Given the description of an element on the screen output the (x, y) to click on. 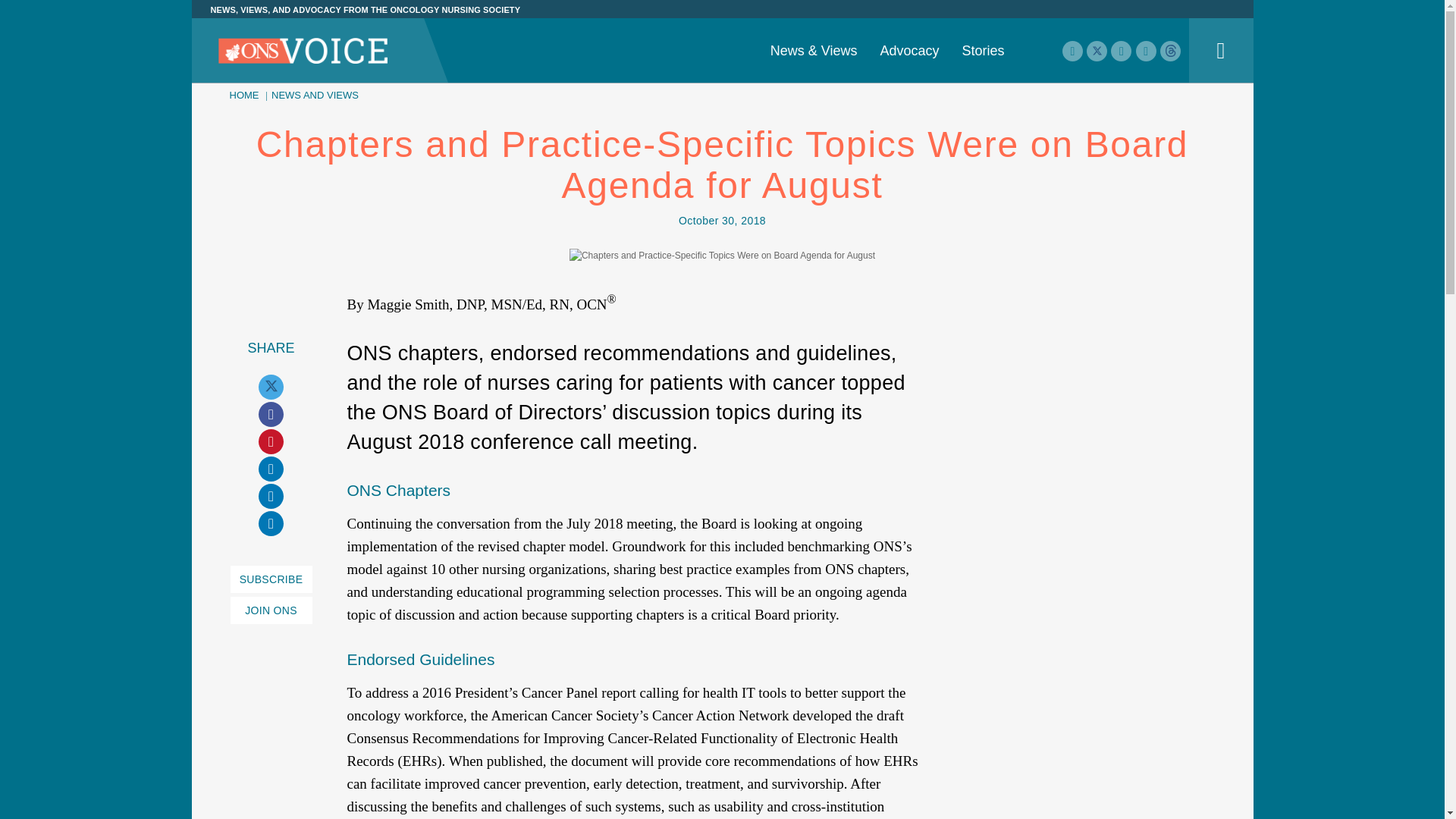
Advocacy (908, 50)
Stories (982, 50)
GET INVOLVED (721, 37)
Advocacy (908, 50)
Stories (982, 50)
Home (302, 51)
ONS CONGRESS (999, 2)
LATEST ARTICLES (466, 37)
